Given the description of an element on the screen output the (x, y) to click on. 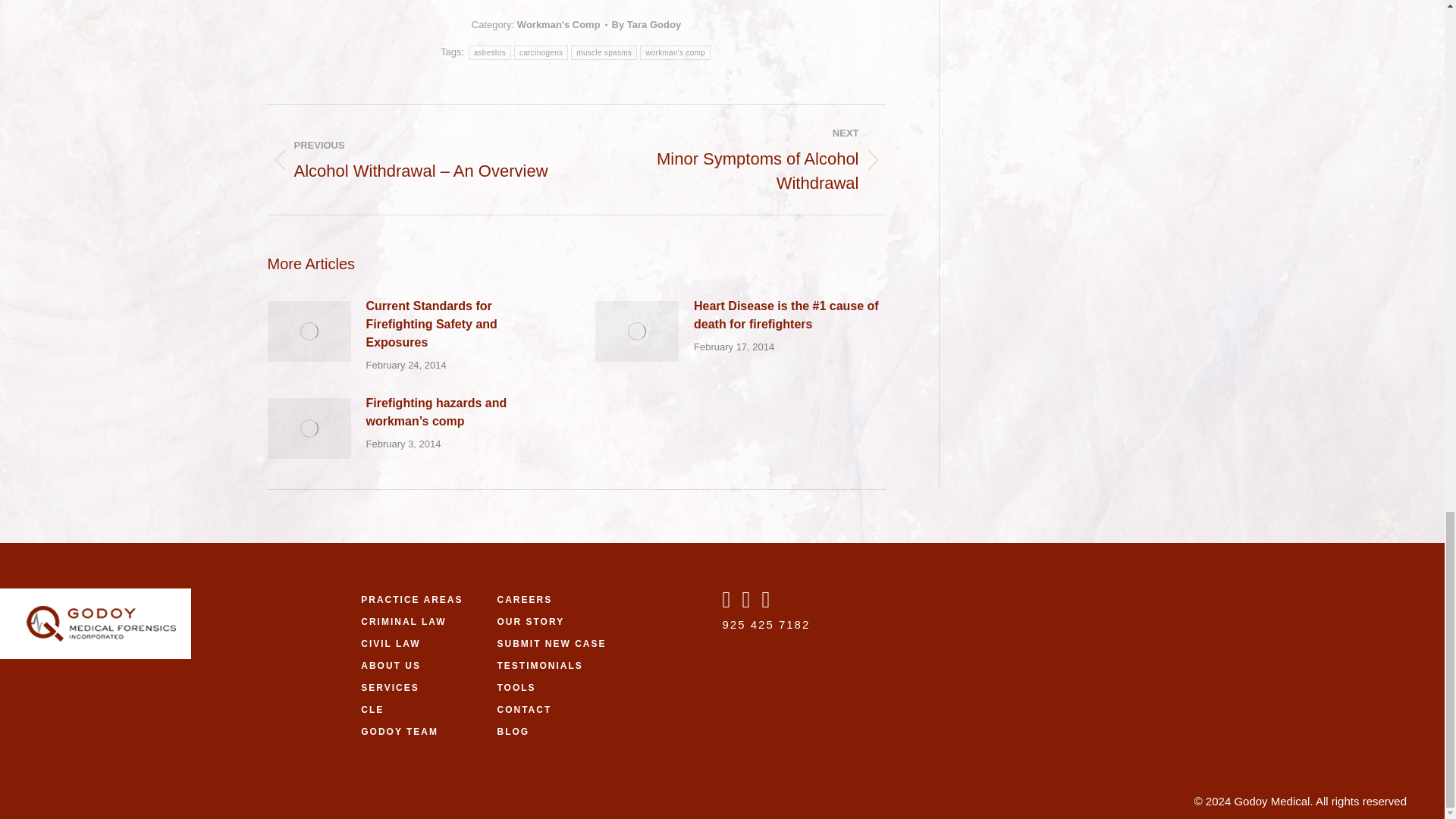
Workman's Comp (557, 24)
By Tara Godoy (646, 25)
View all posts by Tara Godoy (646, 25)
